Given the description of an element on the screen output the (x, y) to click on. 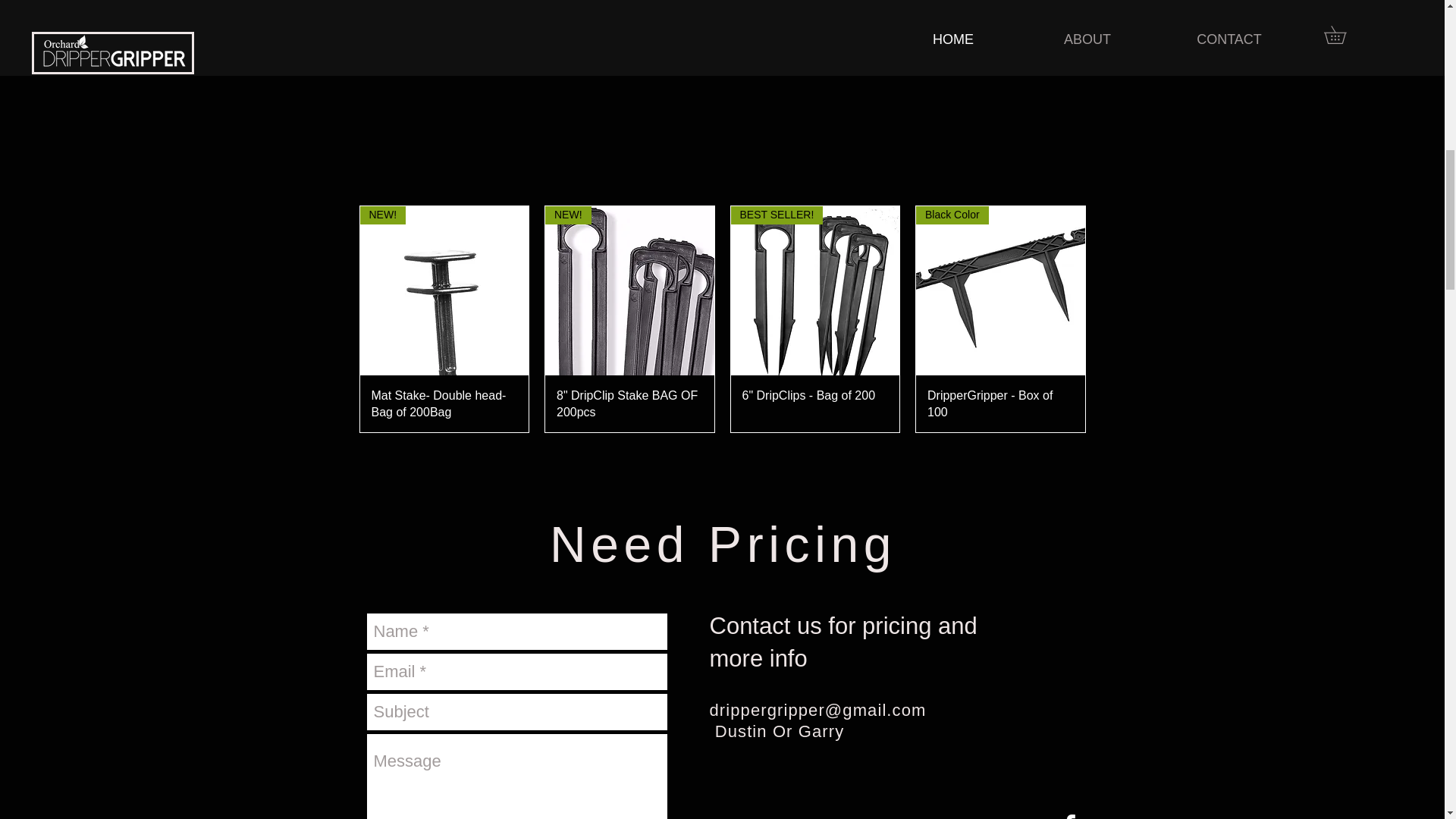
DripperGripper - Box of 100 (1000, 403)
NEW! (443, 290)
NEW! (629, 290)
6" DripClips - Bag of 200 (814, 403)
Mat Stake- Double head-Bag of 200Bag (444, 403)
8" DripClip Stake BAG OF 200pcs (629, 403)
Black Color (999, 290)
BEST SELLER! (814, 290)
